Given the description of an element on the screen output the (x, y) to click on. 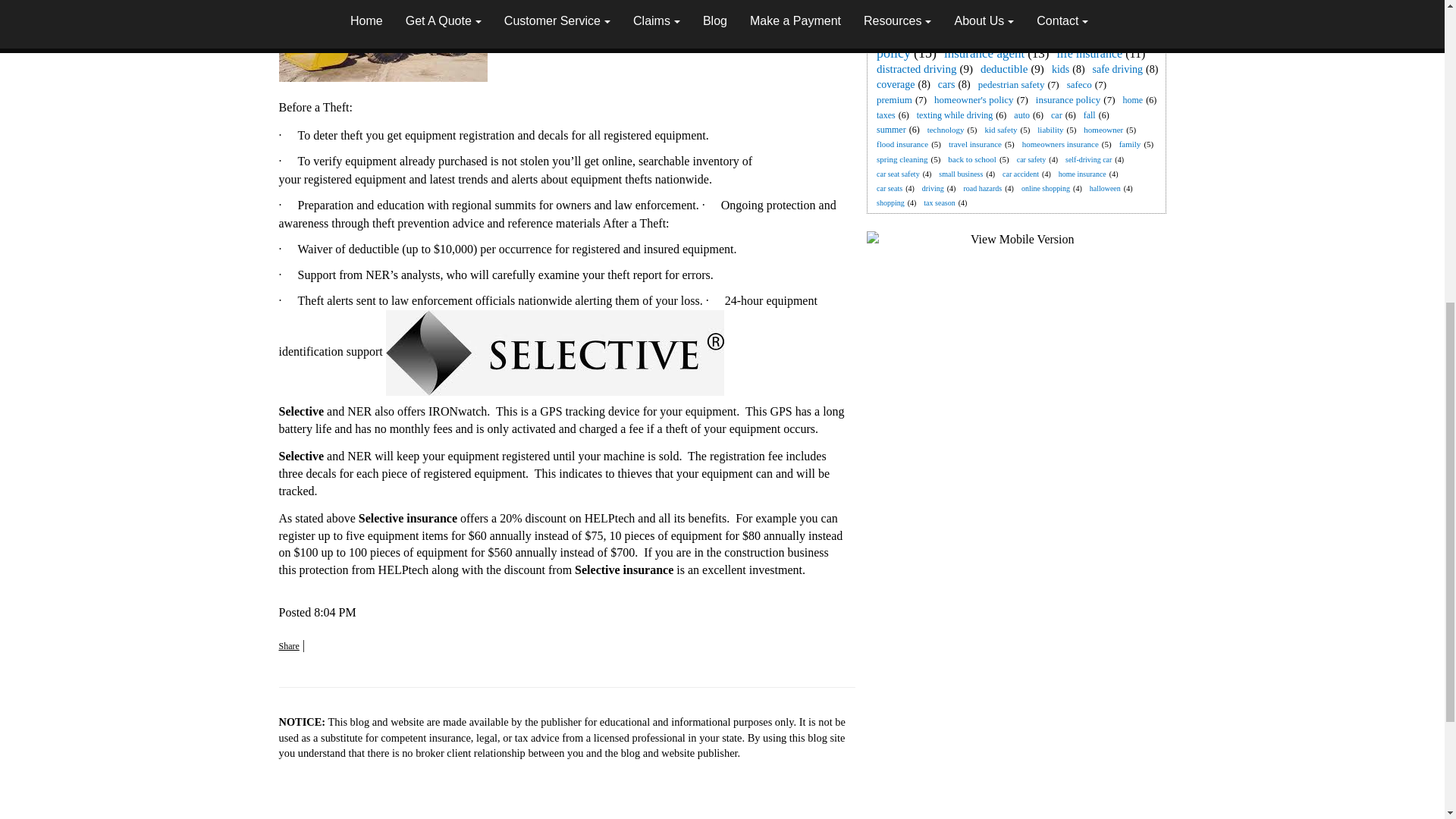
policy (893, 53)
safety (1018, 19)
save money (1078, 36)
coverage (895, 83)
safeco (1079, 83)
safe driving (1117, 69)
pedestrian safety (1011, 83)
insurance (912, 6)
auto insurance (920, 19)
life insurance (1089, 53)
car insurance (1035, 6)
homeowner's insurance (943, 36)
kids (1059, 69)
premium (894, 99)
distracted driving (916, 68)
